Given the description of an element on the screen output the (x, y) to click on. 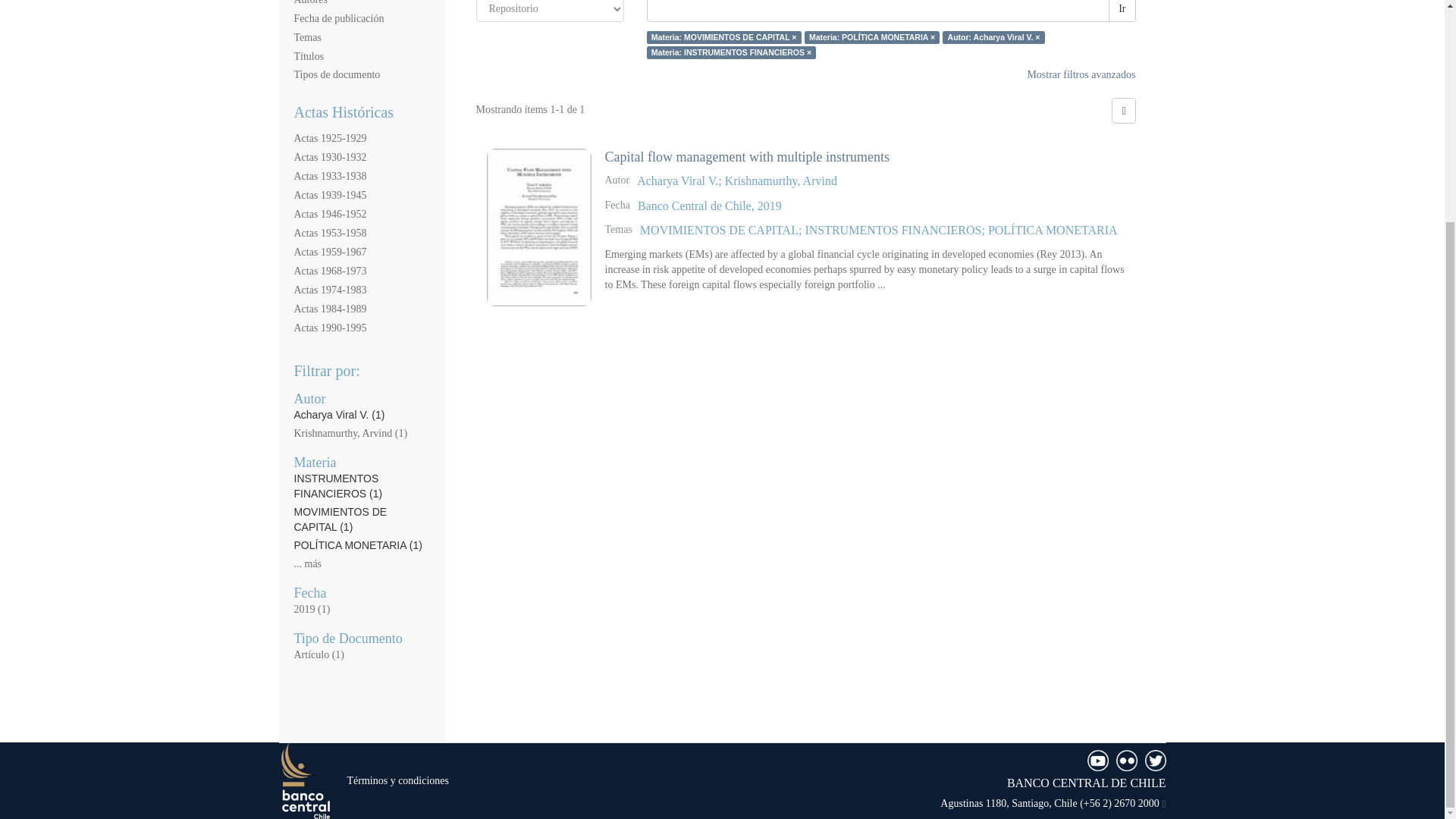
Actas 1968-1973 (330, 270)
Actas 1930-1932 (330, 156)
Actas 1953-1958 (330, 233)
Tipos de documento (337, 74)
Actas 1974-1983 (330, 289)
Temas (307, 37)
Actas 1946-1952 (330, 214)
Actas 1939-1945 (330, 194)
Actas 1933-1938 (330, 175)
Actas 1984-1989 (330, 308)
Actas 1990-1995 (330, 327)
Autores (310, 2)
Actas 1925-1929 (330, 138)
Actas 1959-1967 (330, 251)
